Given the description of an element on the screen output the (x, y) to click on. 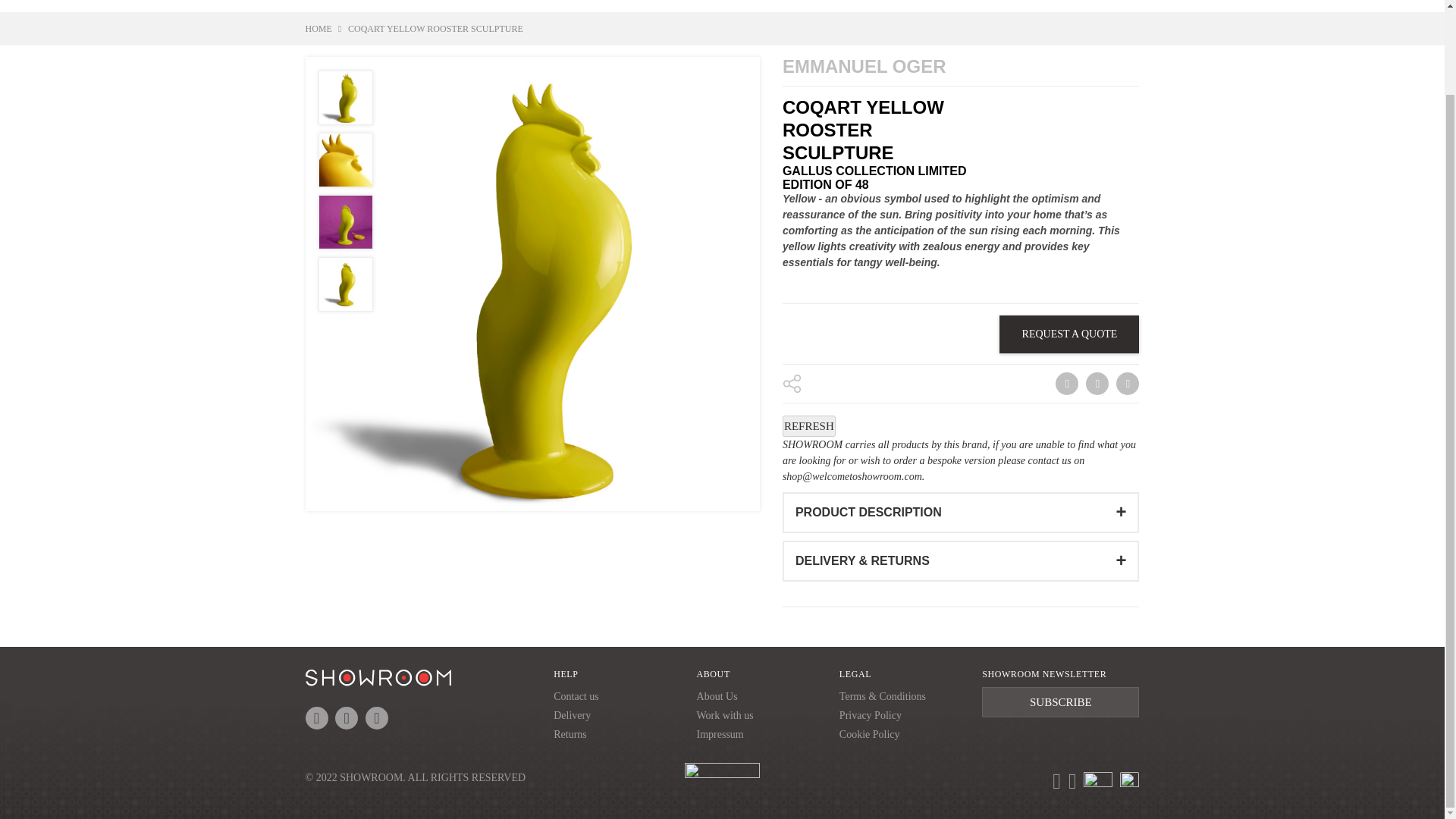
Refresh (809, 425)
Share (1065, 383)
Tweet (1096, 383)
Pinterest (1126, 383)
